Given the description of an element on the screen output the (x, y) to click on. 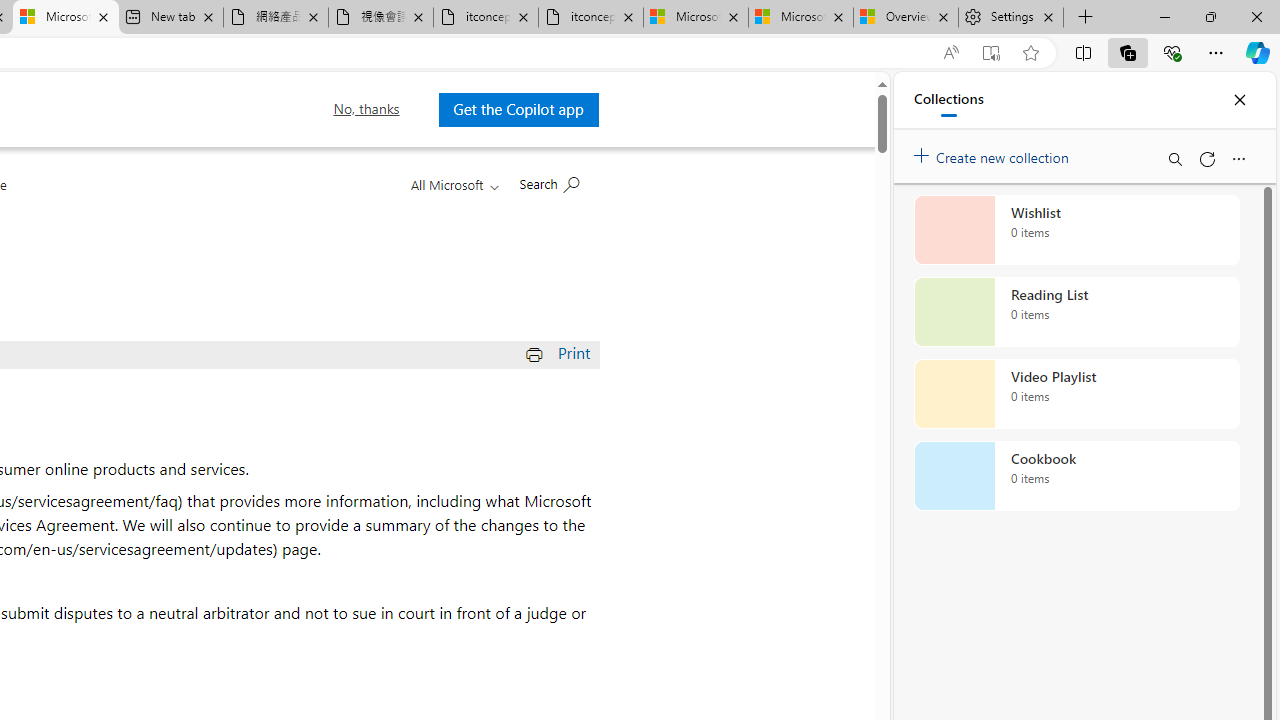
Search Microsoft.com (548, 182)
itconcepthk.com/projector_solutions.mp4 (590, 17)
Wishlist collection, 0 items (1076, 229)
Overview (905, 17)
Reading List collection, 0 items (1076, 312)
Video Playlist collection, 0 items (1076, 394)
